Given the description of an element on the screen output the (x, y) to click on. 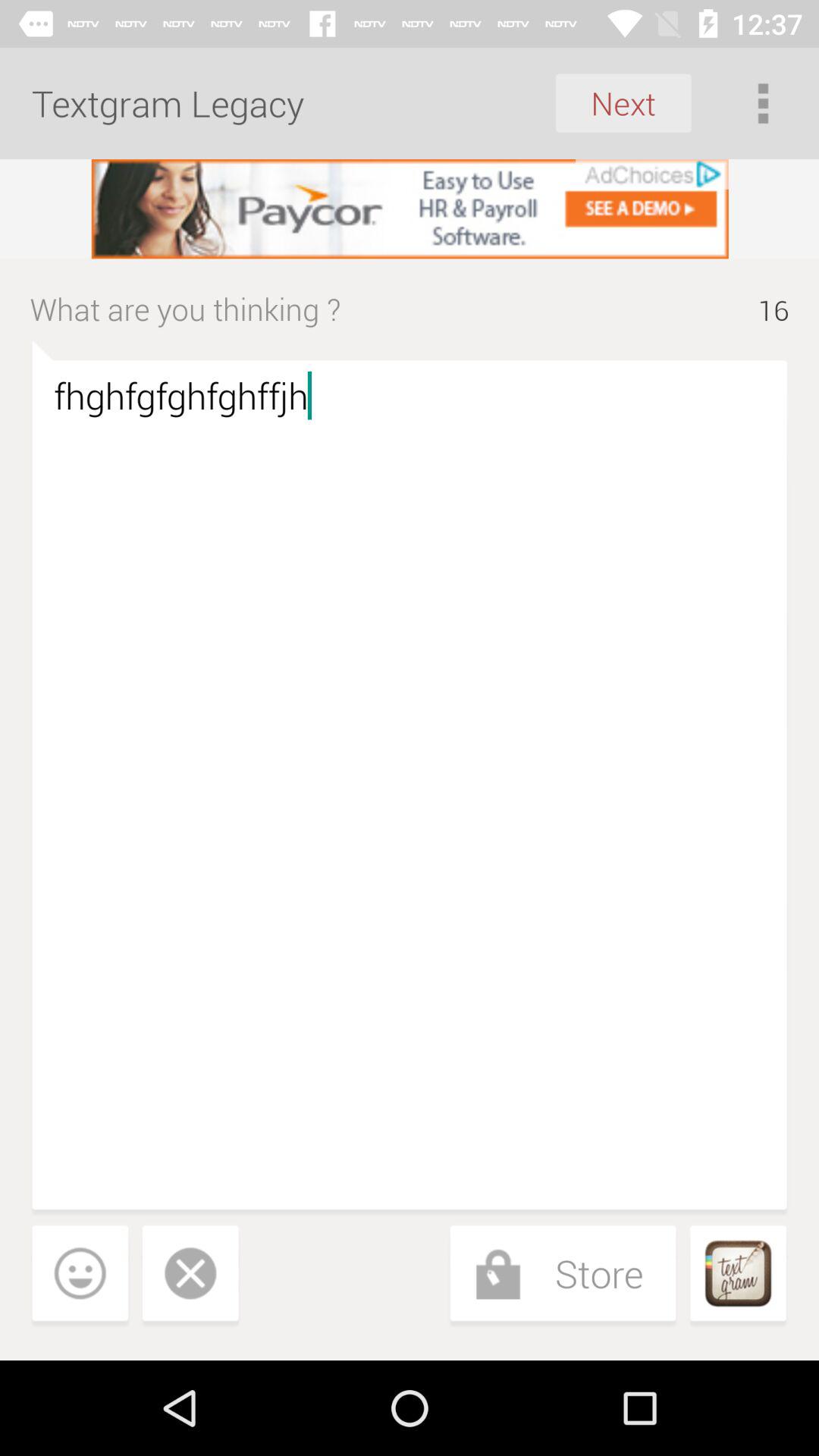
select advertisement (409, 208)
